Given the description of an element on the screen output the (x, y) to click on. 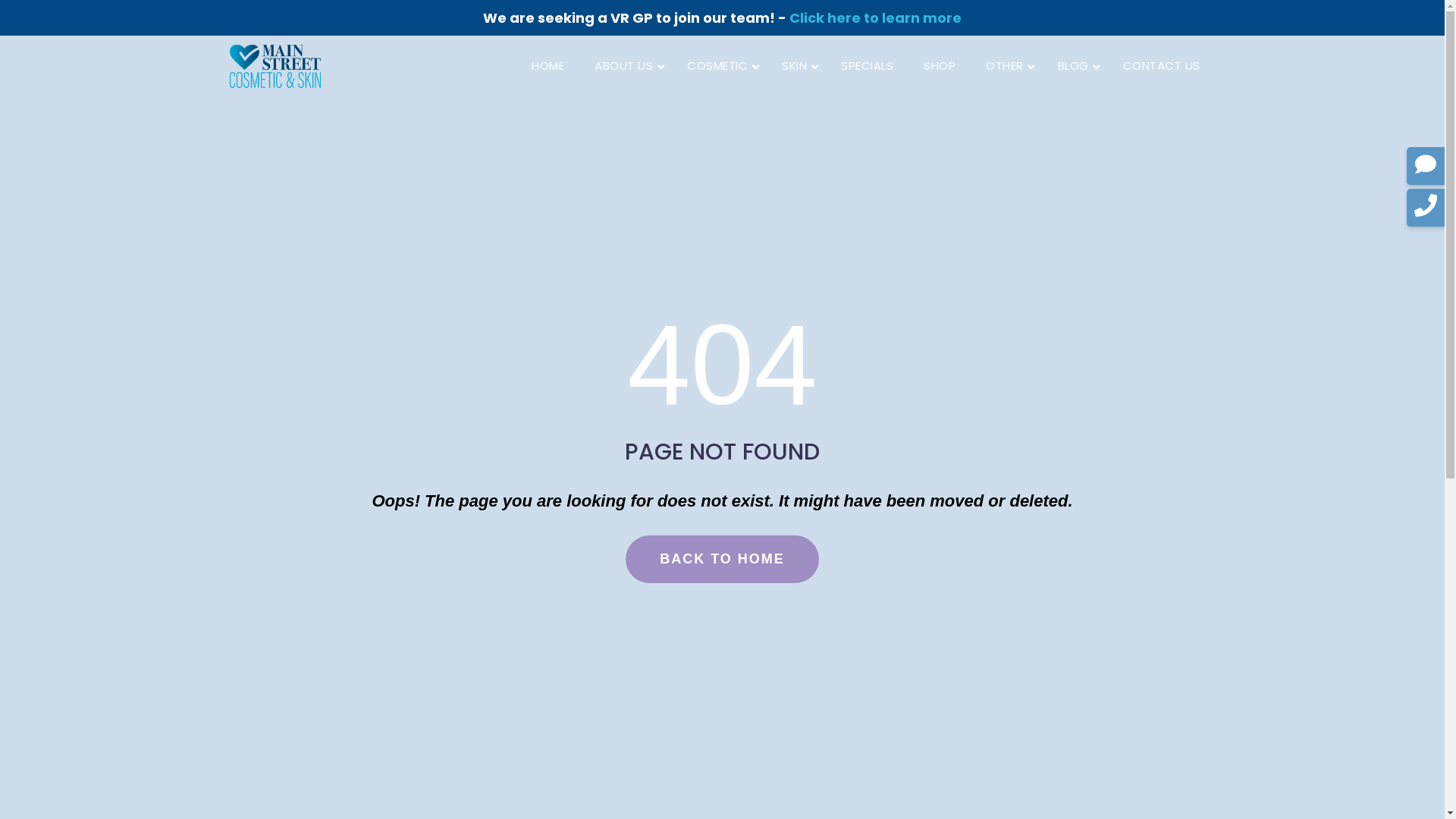
info@mscosmetic.com.au Element type: text (1068, 15)
HOME Element type: text (547, 65)
Click here to learn more Element type: text (875, 17)
OTHER Element type: text (1006, 65)
SHOP Element type: text (939, 65)
ABOUT US Element type: text (625, 65)
03 9739 3830 Element type: text (940, 15)
BLOG Element type: text (1074, 65)
285 Main St, Lilydale VIC 3140, Australia Element type: text (778, 15)
SPECIALS Element type: text (866, 65)
COSMETIC Element type: text (718, 65)
SKIN Element type: text (795, 65)
BACK TO HOME Element type: text (722, 559)
CONTACT US Element type: text (1160, 65)
